Given the description of an element on the screen output the (x, y) to click on. 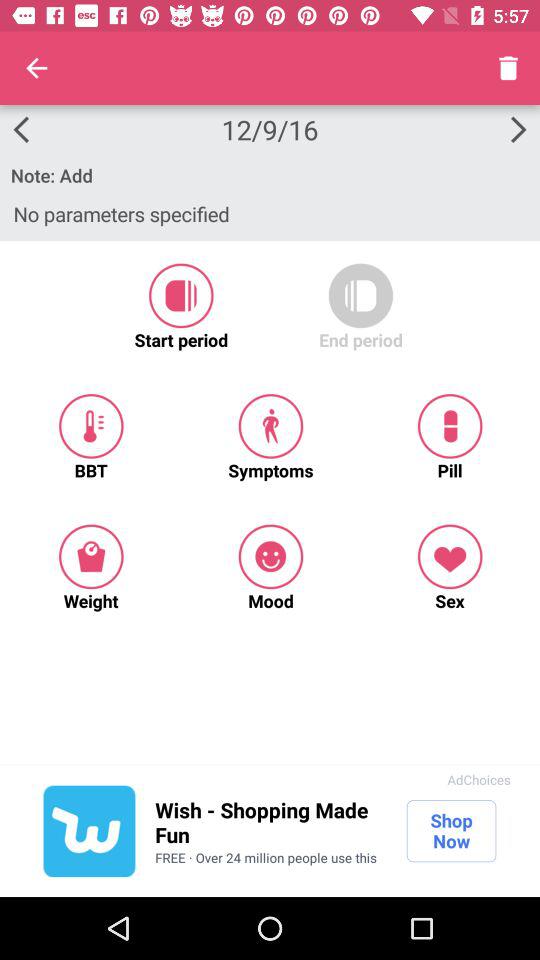
turn on the item next to wish shopping made (89, 831)
